Given the description of an element on the screen output the (x, y) to click on. 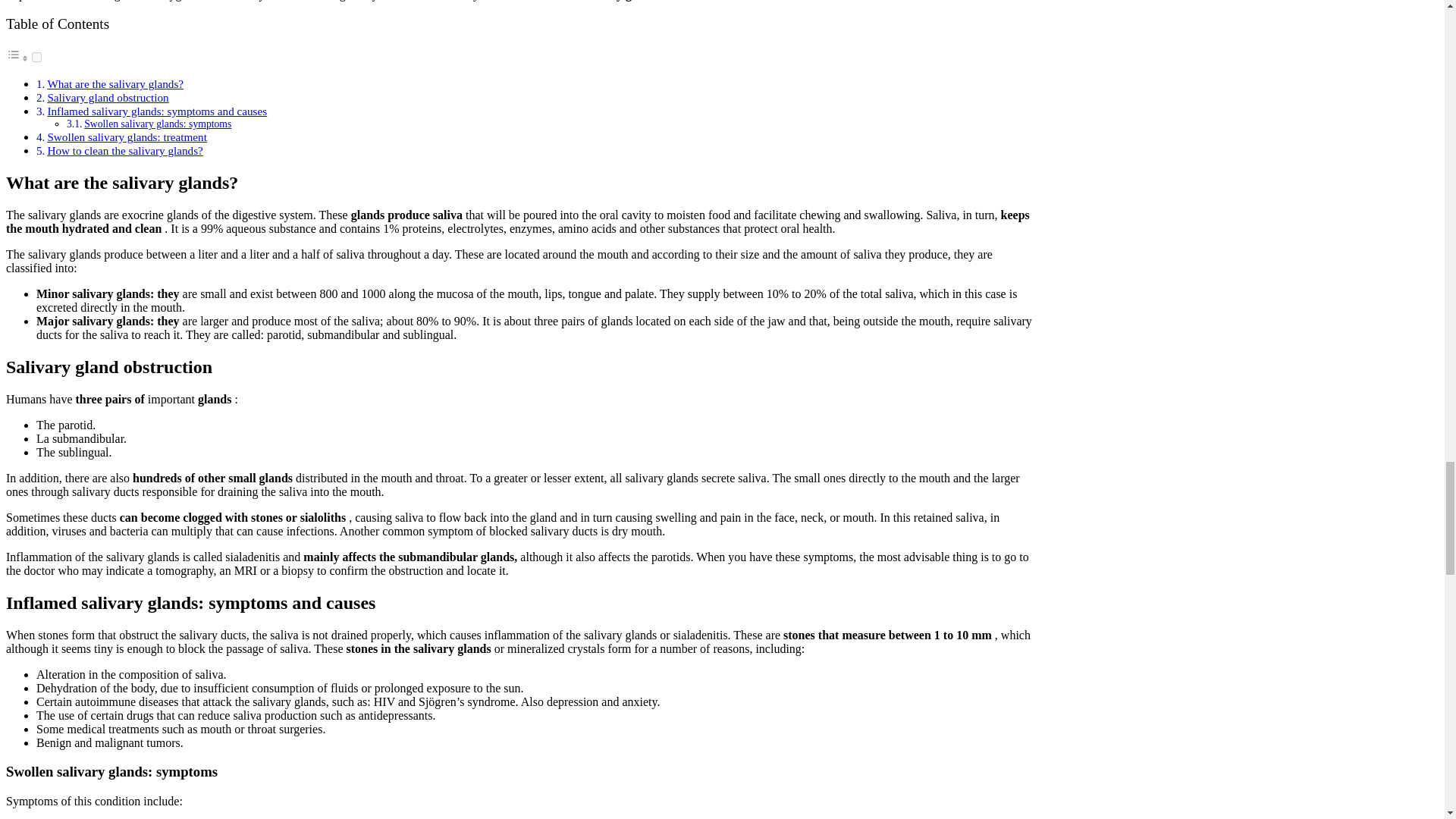
Swollen salivary glands: symptoms (157, 123)
How to clean the salivary glands? (124, 150)
Salivary gland obstruction (107, 97)
Swollen salivary glands: treatment (126, 136)
on (37, 57)
What are the salivary glands? (114, 83)
Inflamed salivary glands: symptoms and causes (156, 110)
